Given the description of an element on the screen output the (x, y) to click on. 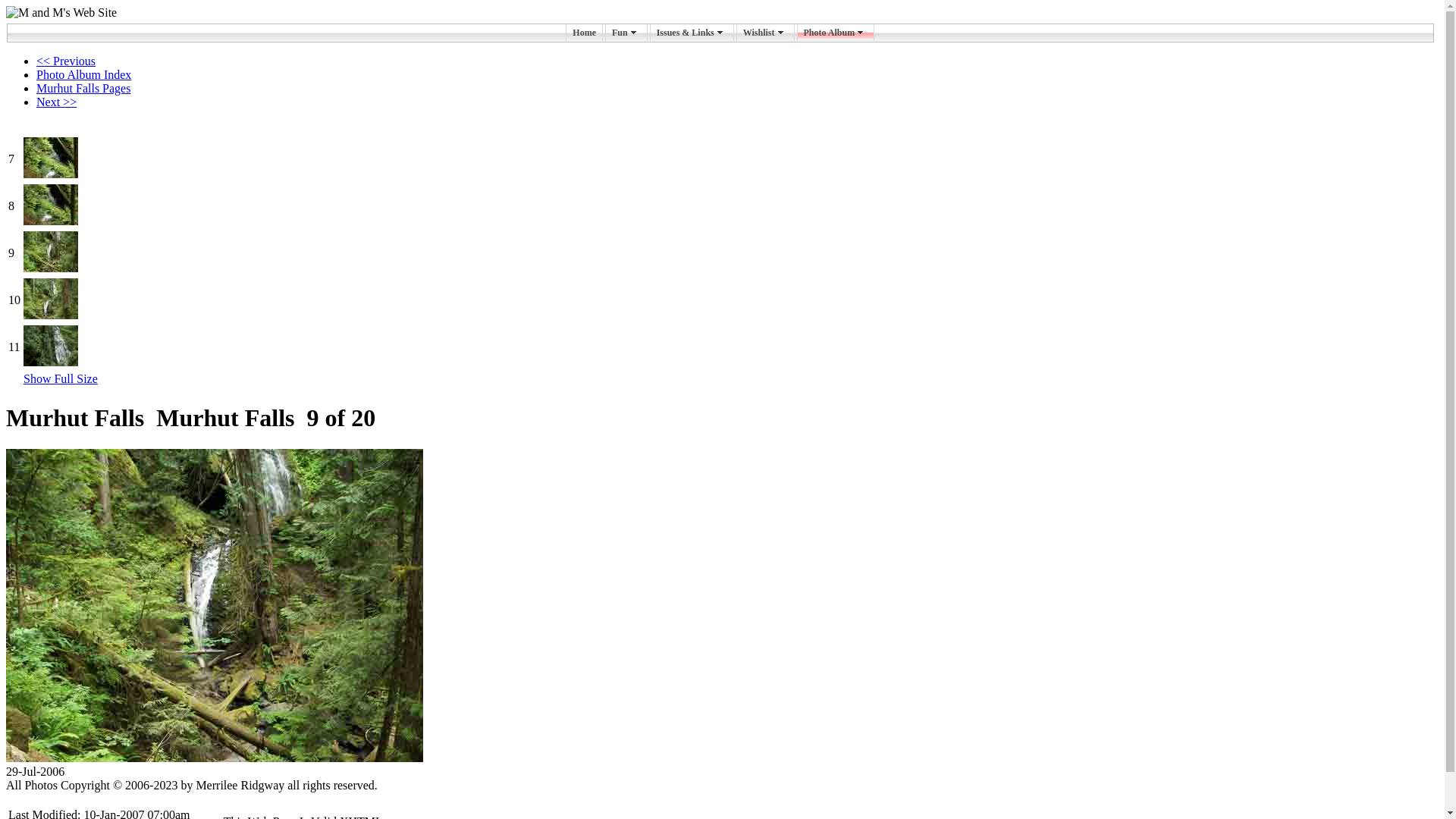
100_0611-wbtn Element type: hover (214, 605)
100_0609-wtn Element type: hover (50, 157)
Wishlist Element type: text (765, 32)
Next >> Element type: text (56, 101)
Issues & Links Element type: text (691, 32)
Show Full Size Element type: text (60, 378)
M and M's Web Site Element type: hover (61, 12)
100_0611-wtn Element type: hover (50, 251)
Murhut Falls Pages Element type: text (83, 87)
<< Previous Element type: text (65, 60)
100_0610-wtn Element type: hover (50, 204)
100_0613-wtn Element type: hover (50, 345)
100_0612-wtn Element type: hover (50, 298)
Fun Element type: text (626, 32)
Home Element type: text (583, 32)
Photo Album Element type: text (836, 32)
Photo Album Index Element type: text (83, 74)
